Given the description of an element on the screen output the (x, y) to click on. 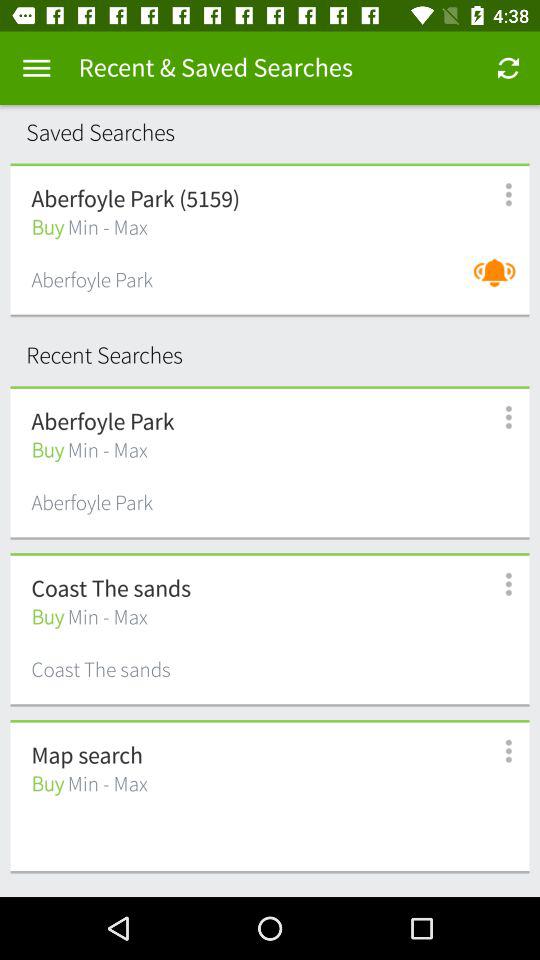
flip to map search (86, 756)
